Given the description of an element on the screen output the (x, y) to click on. 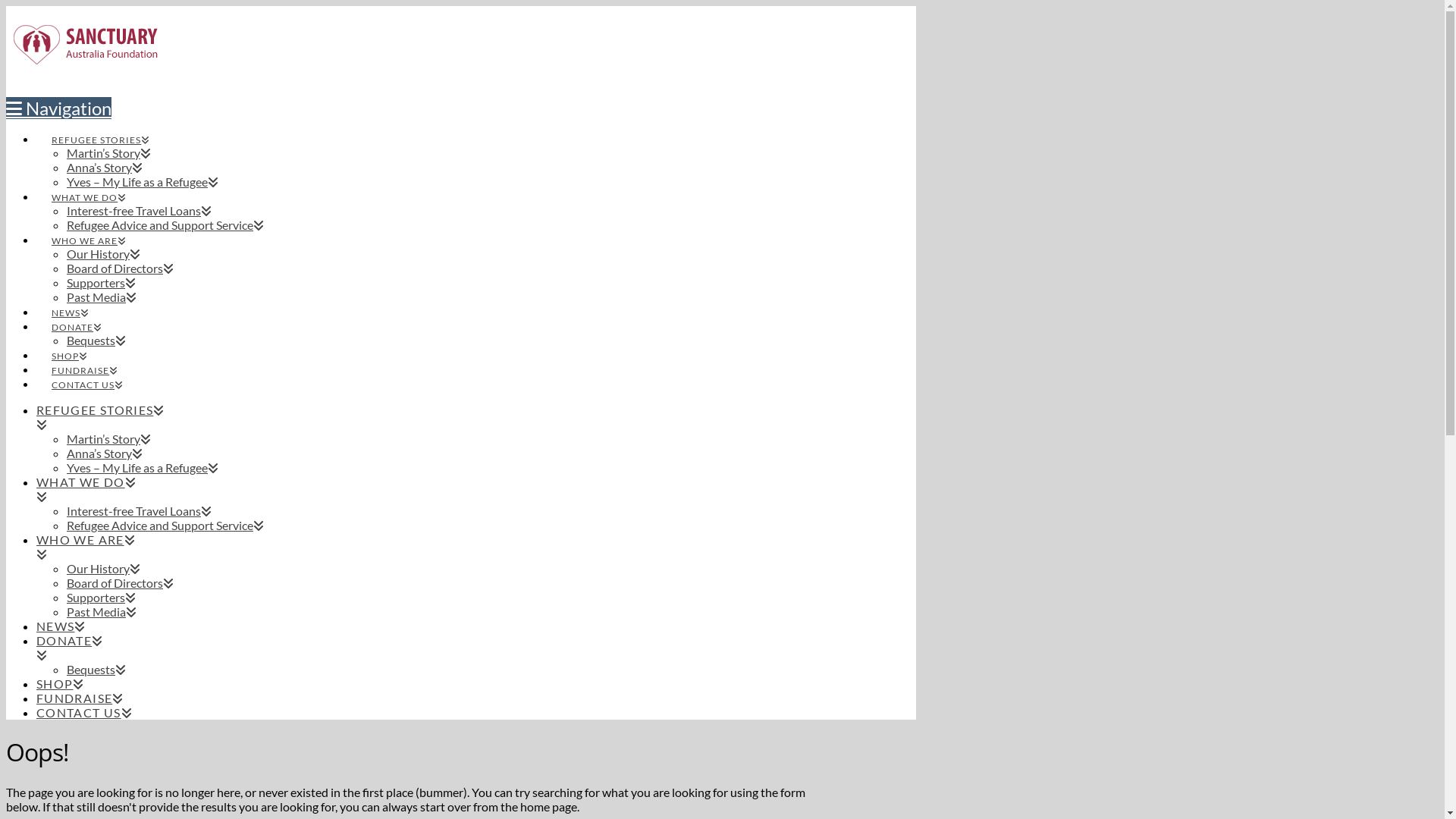
Bequests Element type: text (95, 669)
CONTACT US Element type: text (87, 371)
REFUGEE STORIES Element type: text (100, 126)
FUNDRAISE Element type: text (84, 357)
DONATE Element type: text (76, 313)
Board of Directors Element type: text (119, 267)
Refugee Advice and Support Service Element type: text (164, 224)
Our History Element type: text (103, 568)
WHAT WE DO Element type: text (421, 488)
Supporters Element type: text (100, 596)
Past Media Element type: text (101, 296)
Navigation Element type: text (58, 108)
DONATE Element type: text (421, 647)
Interest-free Travel Loans Element type: text (138, 210)
WHO WE ARE Element type: text (421, 546)
CONTACT US Element type: text (84, 712)
WHO WE ARE Element type: text (88, 227)
NEWS Element type: text (61, 625)
FUNDRAISE Element type: text (80, 697)
REFUGEE STORIES Element type: text (421, 416)
Interest-free Travel Loans Element type: text (138, 510)
Bequests Element type: text (95, 339)
NEWS Element type: text (69, 299)
Refugee Advice and Support Service Element type: text (164, 524)
SHOP Element type: text (69, 342)
Past Media Element type: text (101, 611)
Our History Element type: text (103, 253)
Board of Directors Element type: text (119, 582)
WHAT WE DO Element type: text (88, 184)
SHOP Element type: text (60, 683)
Supporters Element type: text (100, 282)
